Given the description of an element on the screen output the (x, y) to click on. 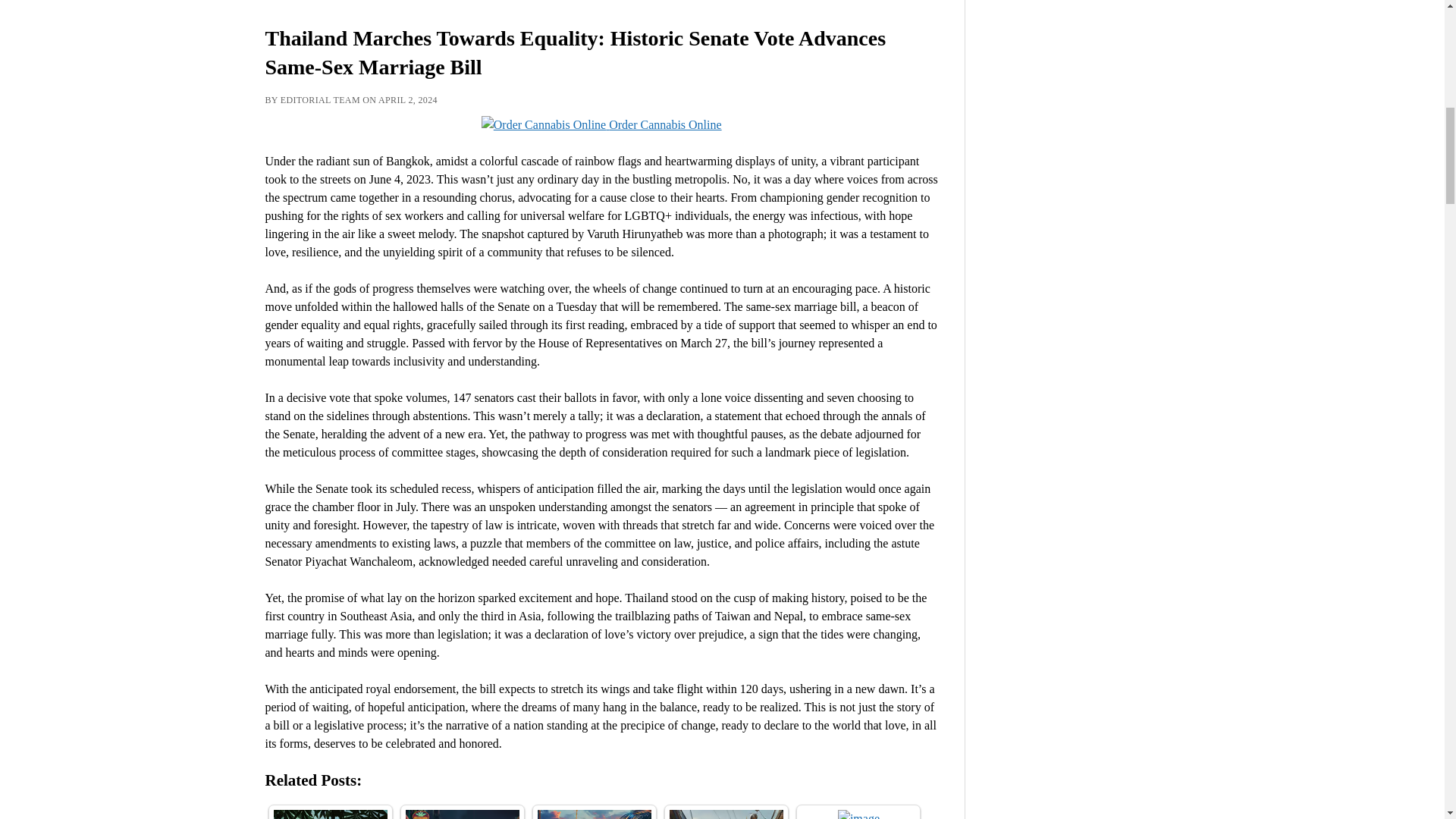
Order Cannabis Online (601, 124)
